Given the description of an element on the screen output the (x, y) to click on. 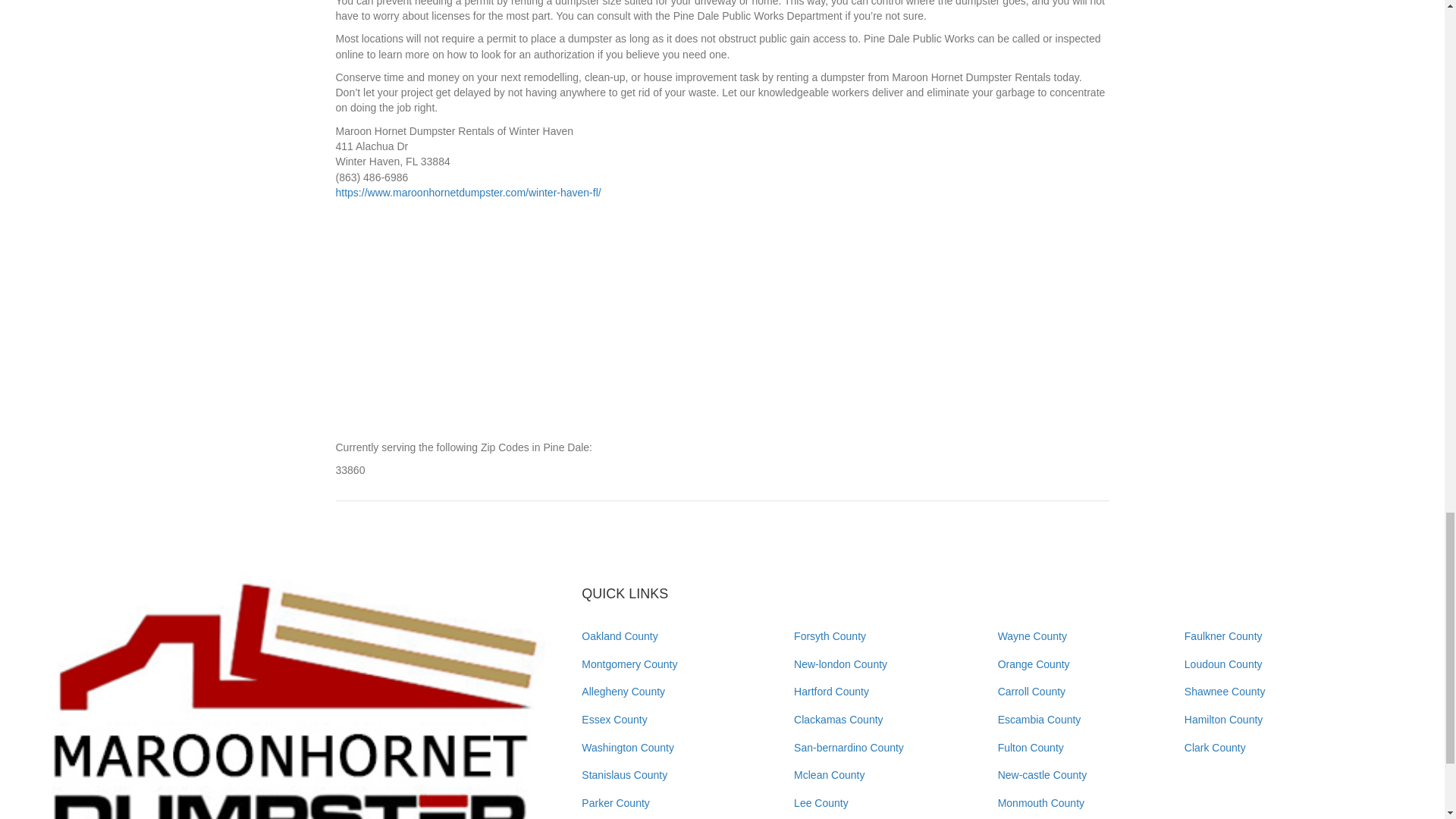
rental (290, 694)
